Given the description of an element on the screen output the (x, y) to click on. 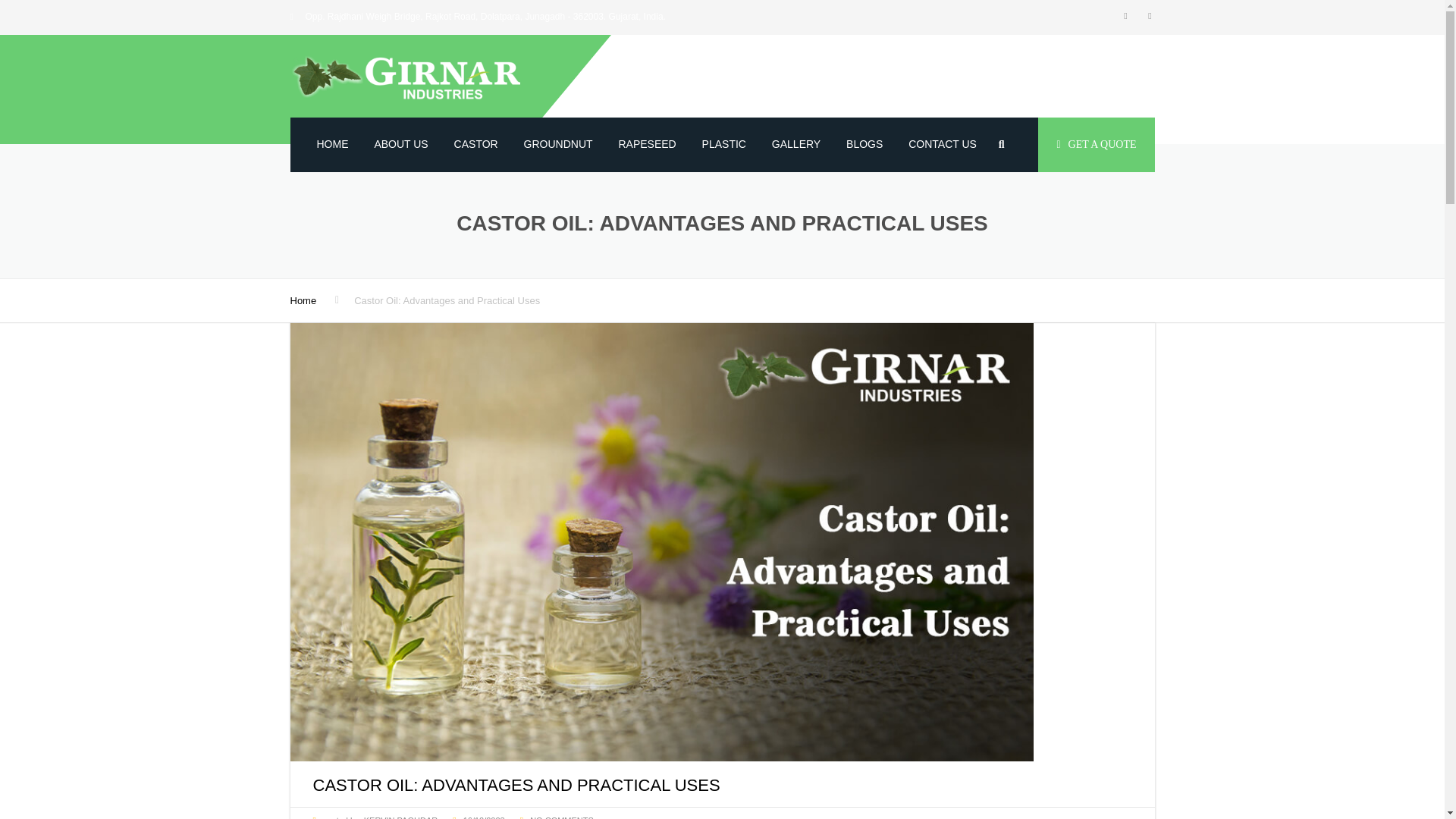
HOME (331, 144)
GET A QUOTE (1096, 144)
CASTOR (475, 144)
PLASTIC (723, 144)
RAPESEED (647, 144)
ABOUT US (400, 144)
GROUNDNUT (558, 144)
